Given the description of an element on the screen output the (x, y) to click on. 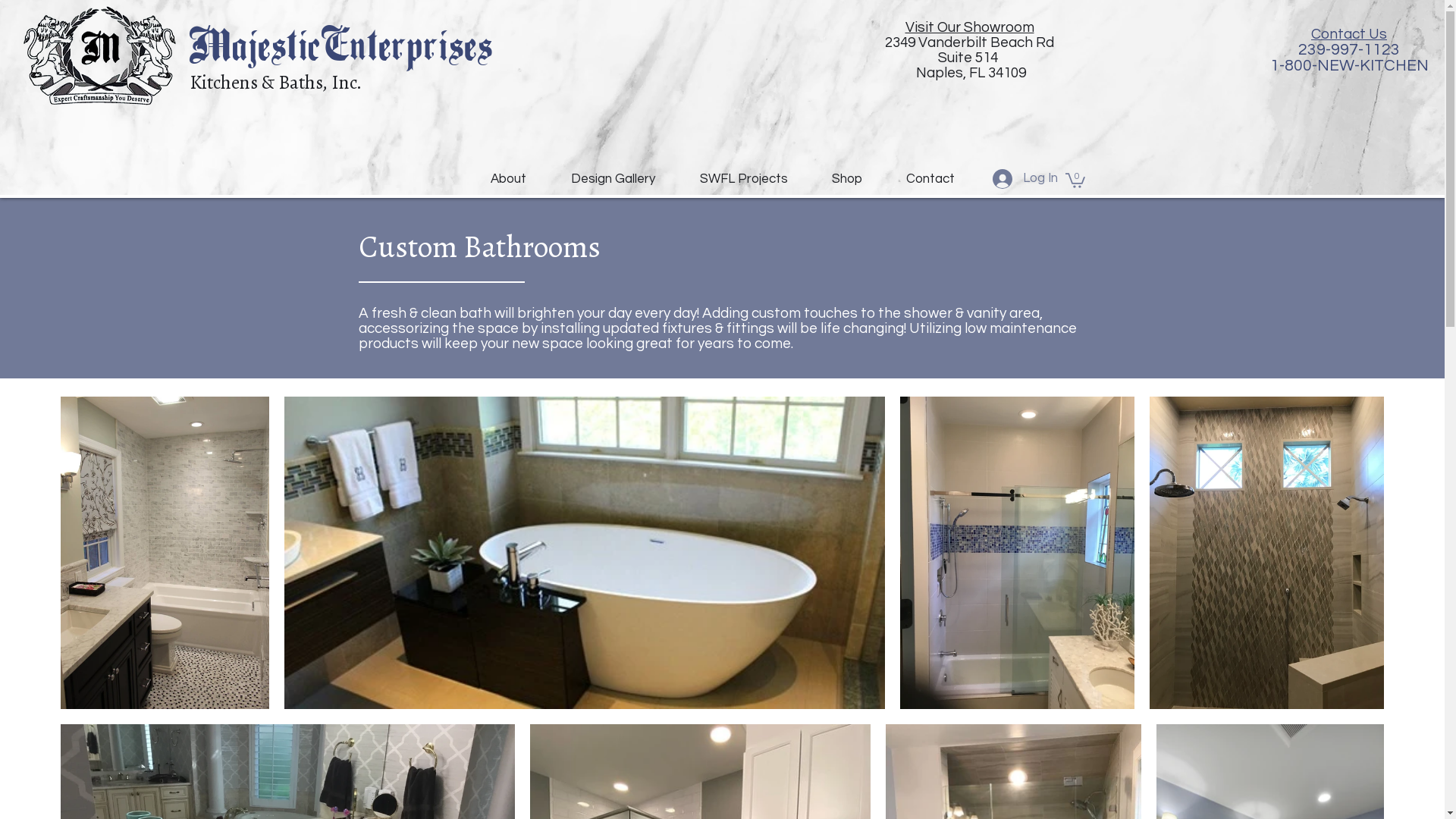
uite 514 Element type: text (972, 57)
2349 Vanderbilt Beach Rd S Element type: text (969, 49)
About Element type: text (508, 178)
 Naples, FL Element type: text (949, 72)
SWFL Projects Element type: text (743, 178)
MajesticEnterprises Element type: text (341, 49)
Shop Element type: text (846, 178)
Contact Element type: text (930, 178)
Kitchens & Baths, Inc. Element type: text (274, 82)
0 Element type: text (1074, 179)
Log In Element type: text (1020, 178)
